Given the description of an element on the screen output the (x, y) to click on. 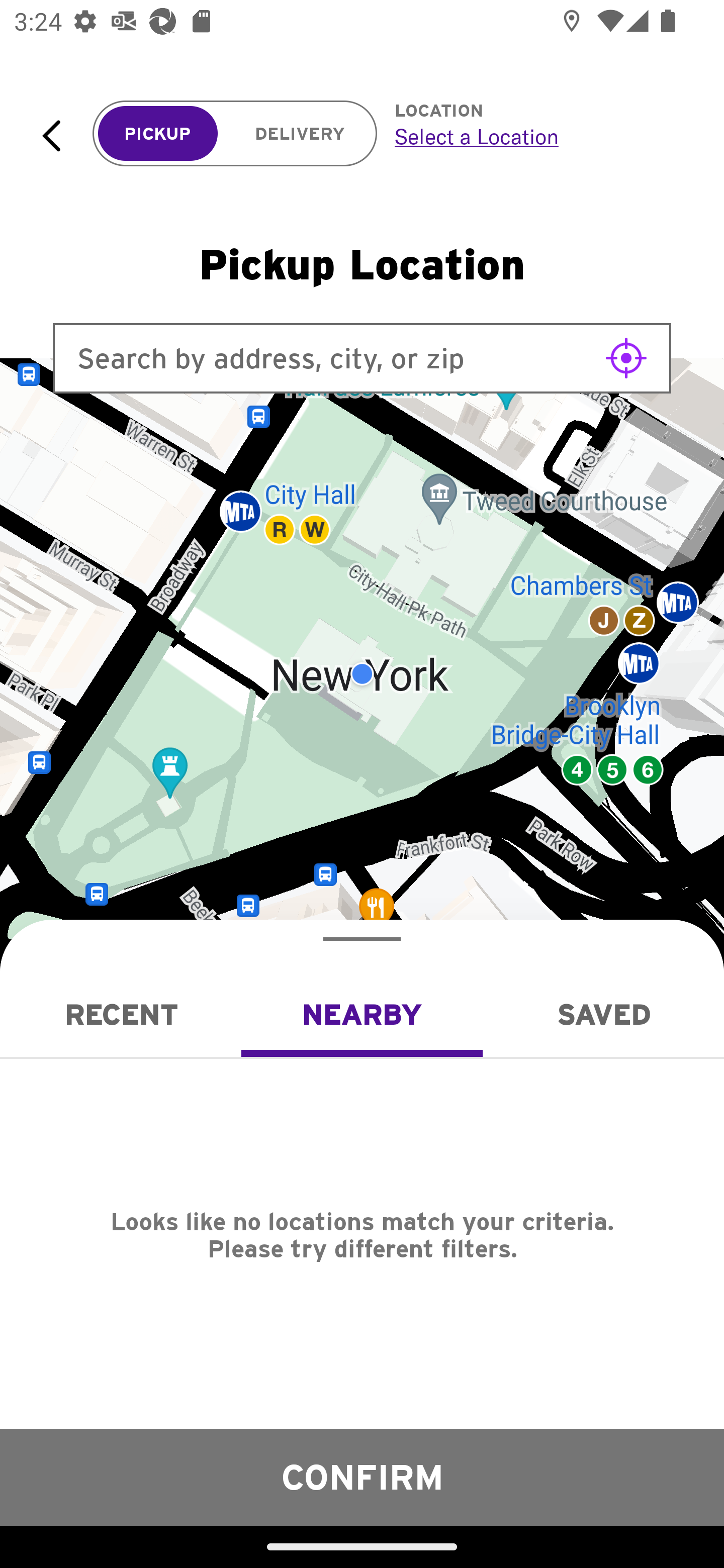
PICKUP (157, 133)
DELIVERY (299, 133)
Select a Location (536, 136)
Search by address, city, or zip (361, 358)
Google Map (362, 674)
Recent RECENT (120, 1014)
Saved SAVED (603, 1014)
CONFIRM (362, 1476)
